Given the description of an element on the screen output the (x, y) to click on. 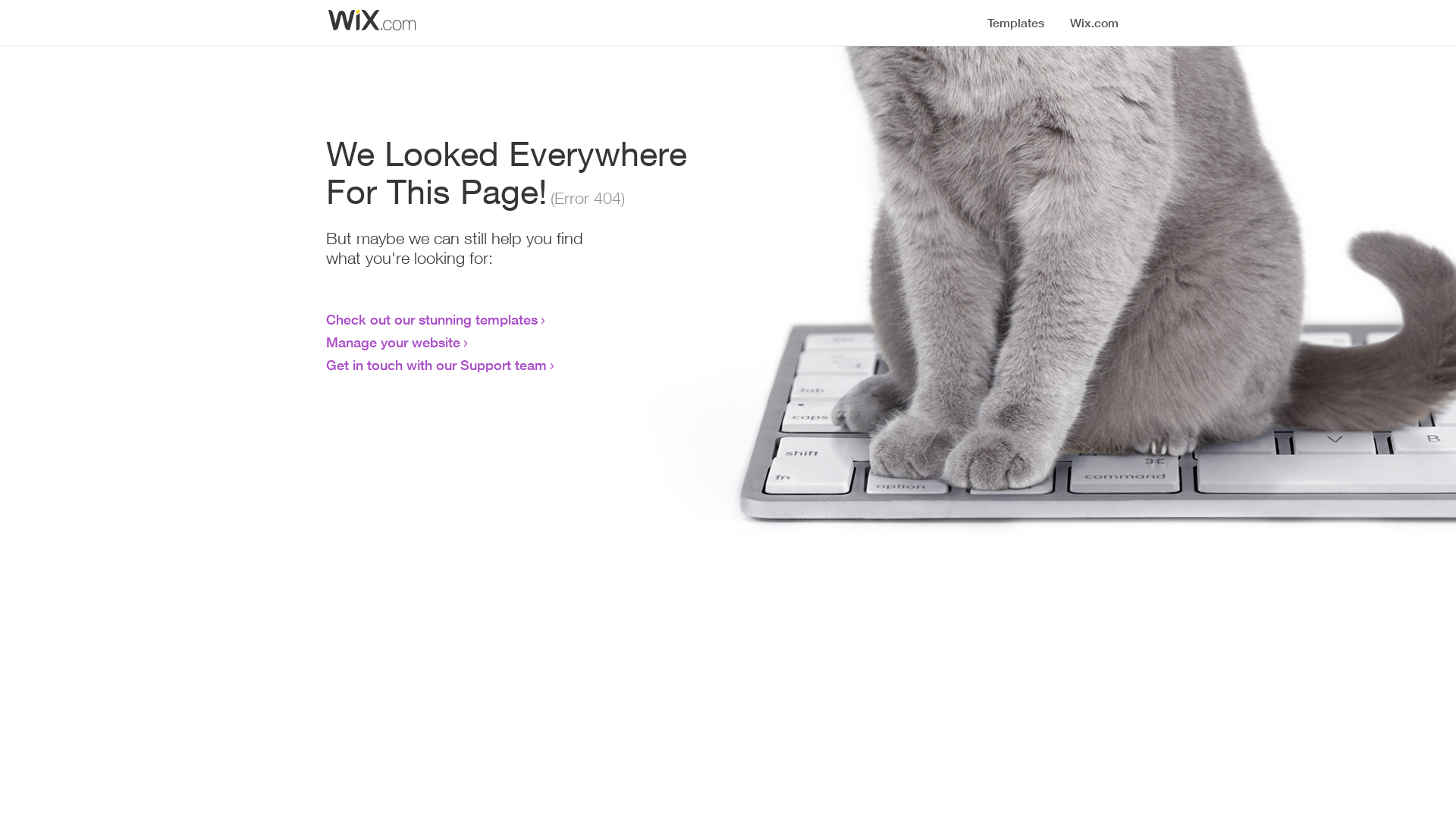
Check out our stunning templates Element type: text (431, 318)
Get in touch with our Support team Element type: text (436, 364)
Manage your website Element type: text (393, 341)
